Given the description of an element on the screen output the (x, y) to click on. 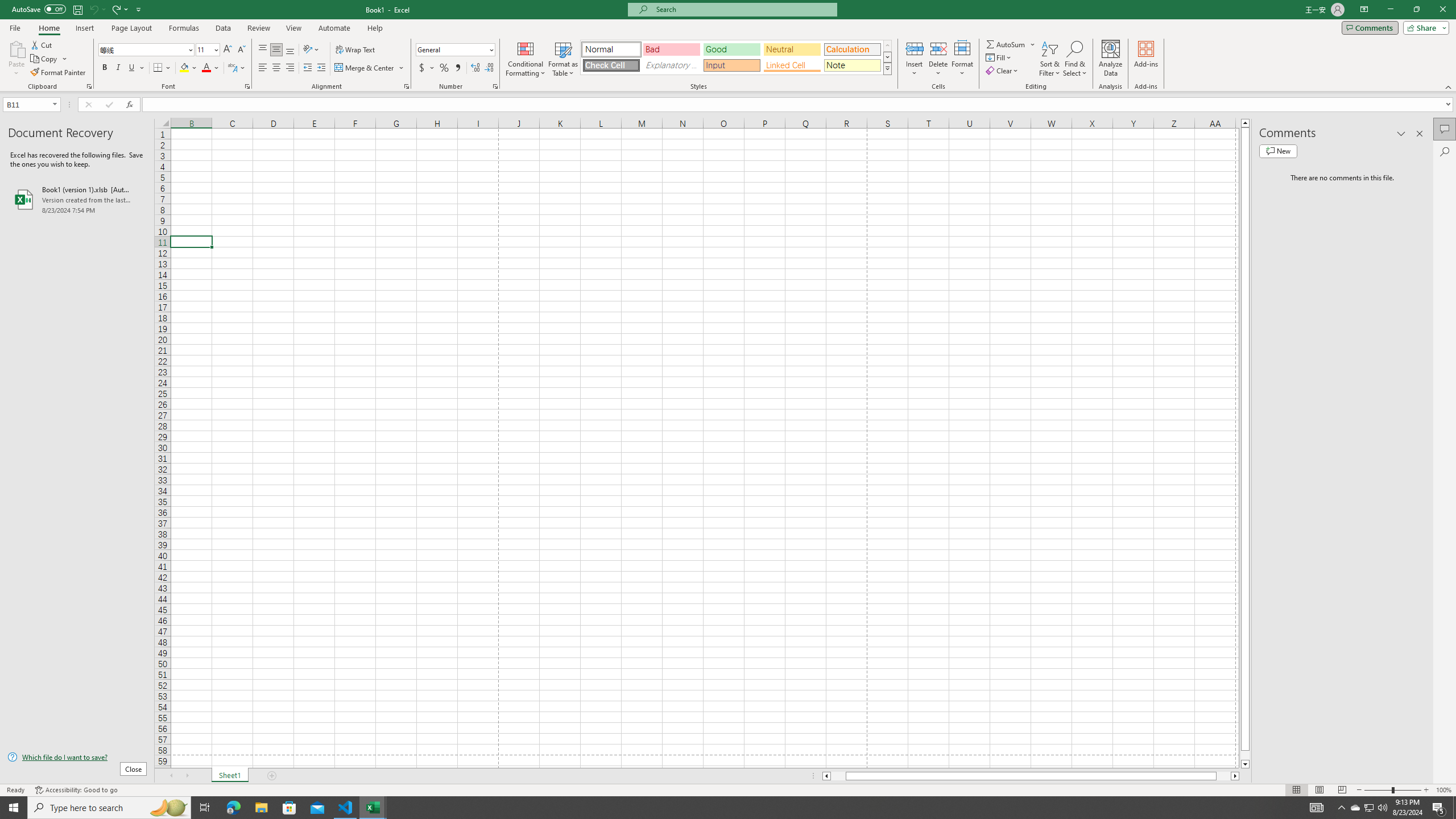
Number Format (451, 49)
Underline (136, 67)
Center (276, 67)
Fill Color (188, 67)
Page left (838, 775)
Paste (16, 58)
Font Color RGB(255, 0, 0) (206, 67)
Bottom Border (157, 67)
Paste (16, 48)
